Given the description of an element on the screen output the (x, y) to click on. 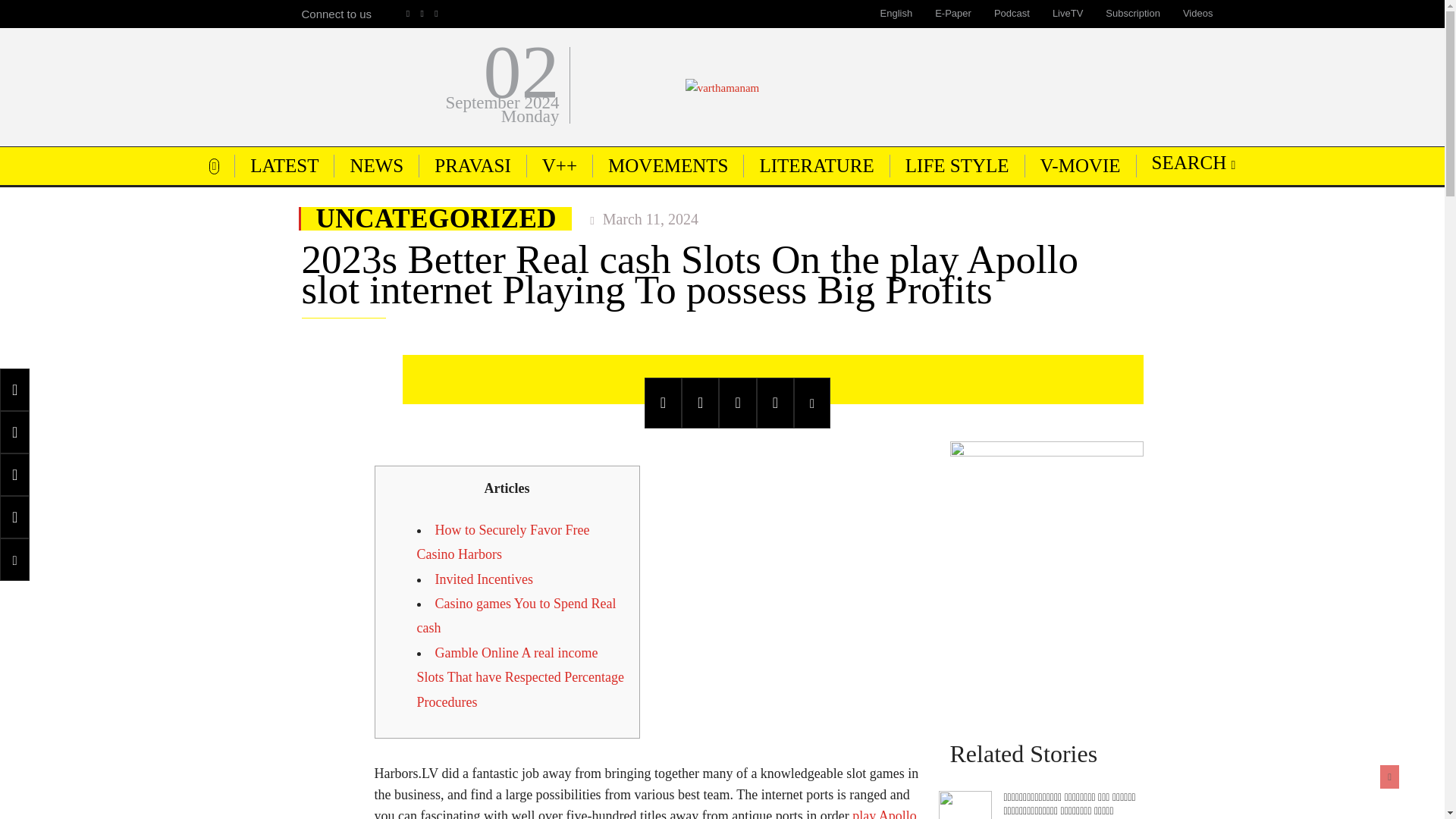
SEARCH (1193, 162)
NEWS (376, 165)
LIFE STYLE (957, 165)
MOVEMENTS (667, 165)
LITERATURE (816, 165)
PRAVASI (472, 165)
V-MOVIE (1080, 165)
LATEST (283, 165)
